Given the description of an element on the screen output the (x, y) to click on. 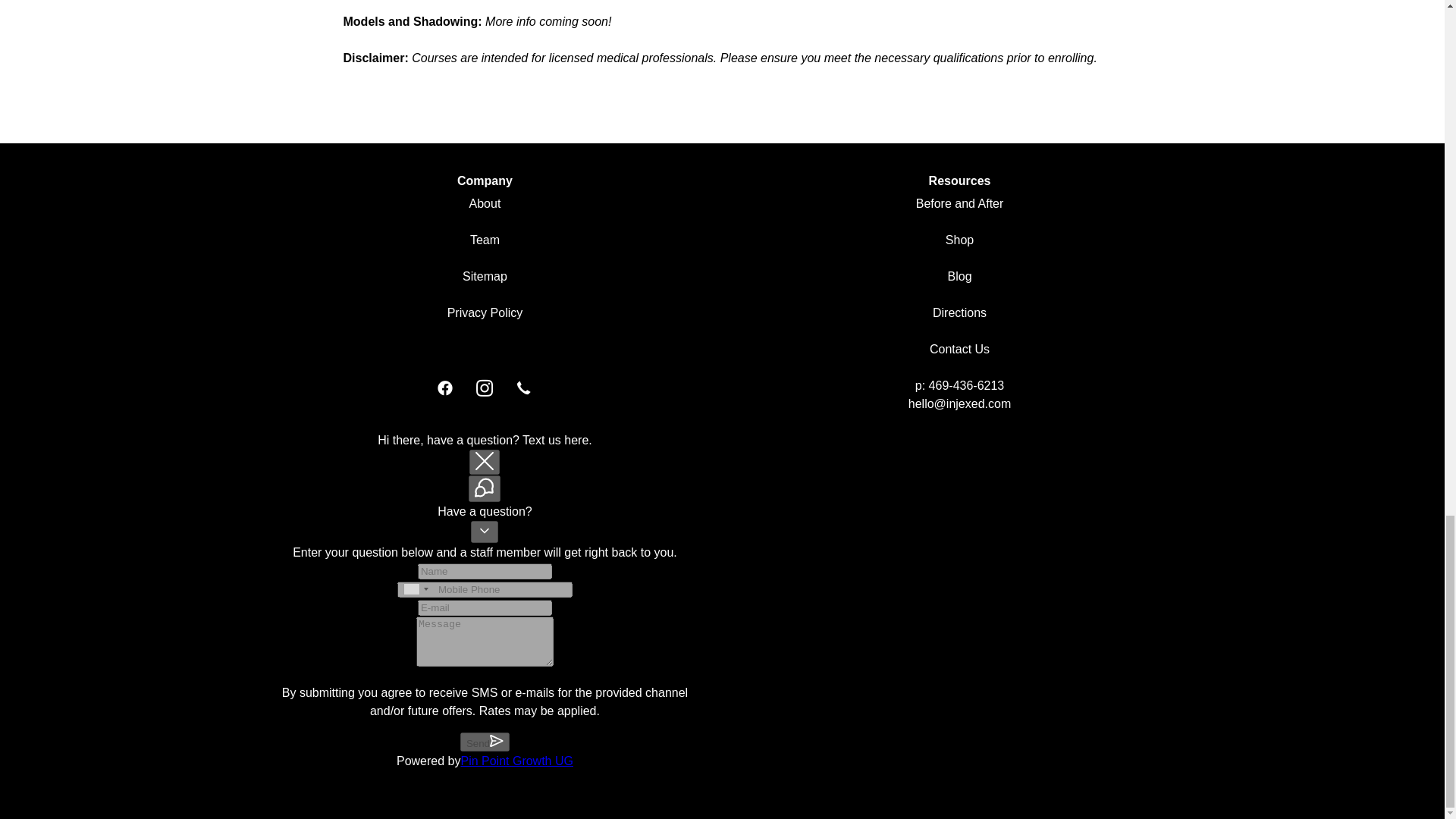
Sitemap (484, 276)
Privacy Policy (484, 312)
Shop (959, 239)
Contact Us (960, 349)
Team (484, 239)
Directions (960, 312)
About (484, 203)
Before and After (959, 203)
Blog (959, 276)
